Given the description of an element on the screen output the (x, y) to click on. 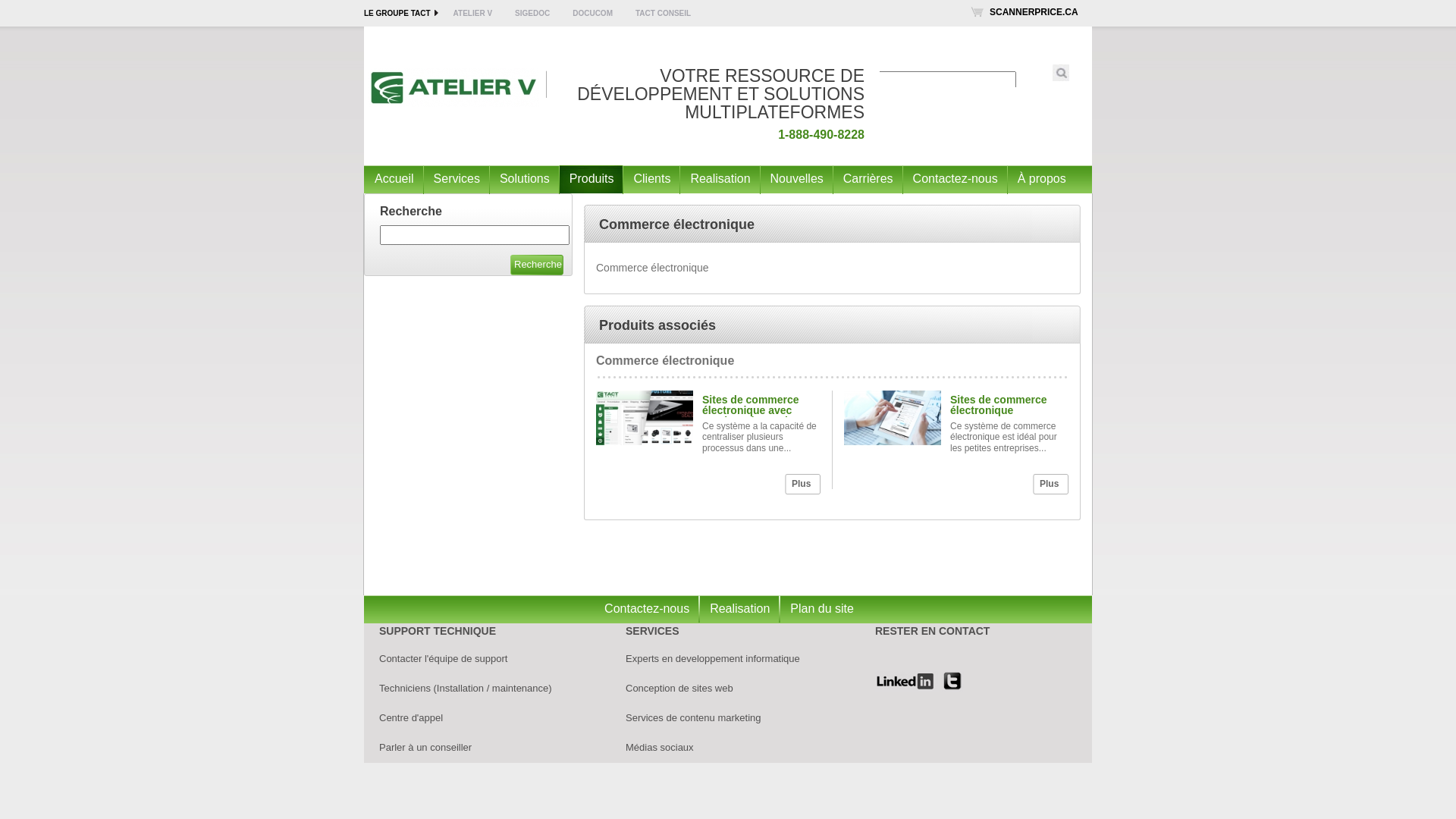
Conception de sites web Element type: text (679, 687)
Experts en developpement informatique Element type: text (712, 658)
Plus Element type: text (1050, 483)
Atelier V Element type: hover (454, 88)
Plus Element type: text (802, 483)
Clients Element type: text (651, 179)
ATELIER V Element type: text (472, 13)
Plan du site Element type: text (821, 609)
Contactez-nous Element type: text (646, 609)
Realisation Element type: text (738, 609)
DOCUCOM Element type: text (592, 13)
Contactez-nous Element type: text (955, 179)
SIGEDOC Element type: text (531, 13)
Solutions Element type: text (523, 179)
SCANNERPRICE.CA Element type: text (1033, 11)
TACT CONSEIL Element type: text (662, 13)
Nouvelles Element type: text (796, 179)
Services Element type: text (456, 179)
Recherche Element type: text (527, 264)
Centre d'appel Element type: text (410, 717)
Accueil Element type: text (393, 179)
Techniciens (Installation / maintenance) Element type: text (465, 687)
Services de contenu marketing Element type: text (692, 717)
Produits Element type: text (591, 179)
Realisation Element type: text (719, 179)
